Given the description of an element on the screen output the (x, y) to click on. 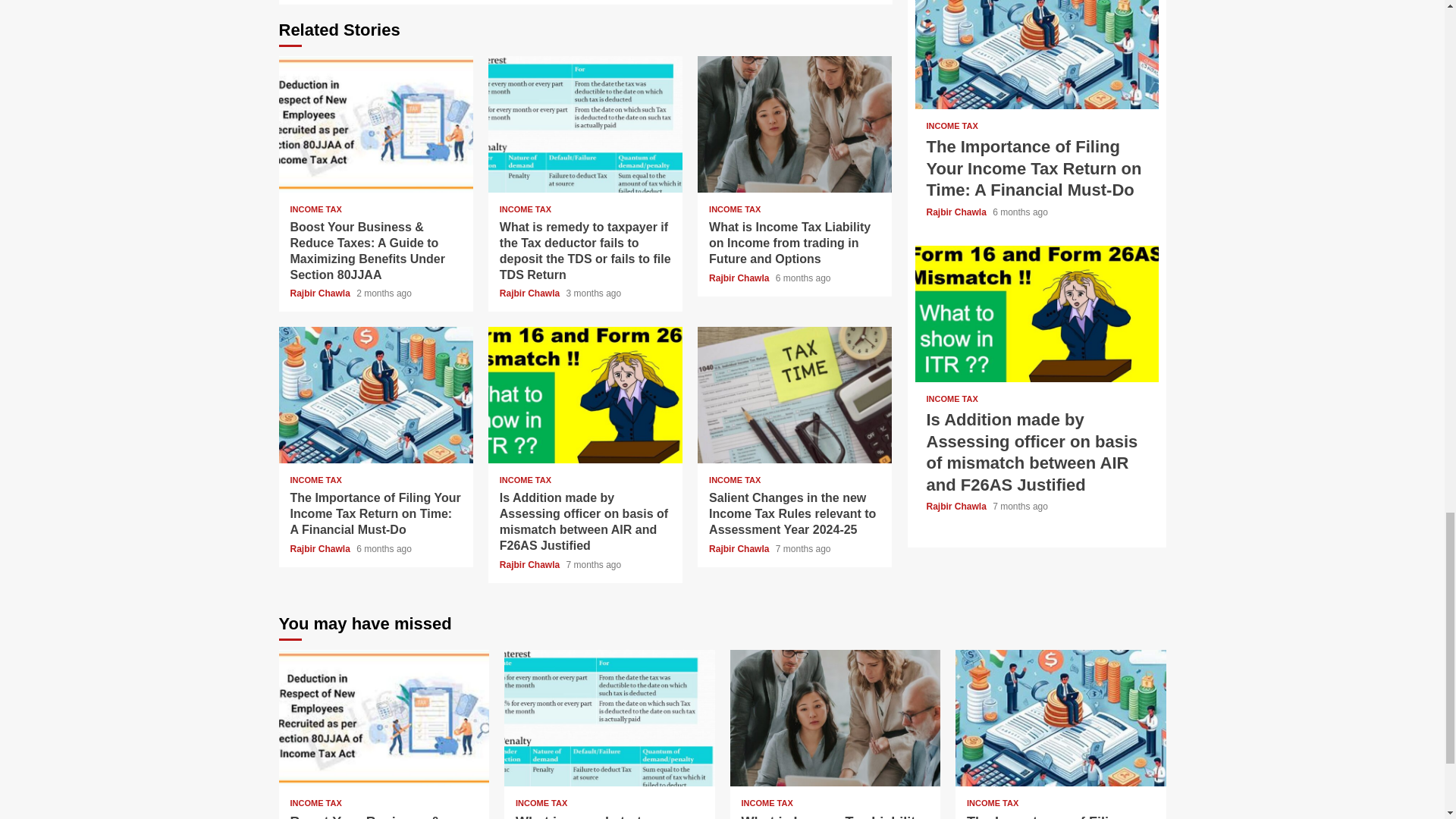
Rajbir Chawla (530, 293)
INCOME TAX (314, 209)
Rajbir Chawla (740, 277)
Rajbir Chawla (320, 293)
Rajbir Chawla (320, 548)
INCOME TAX (734, 209)
